Given the description of an element on the screen output the (x, y) to click on. 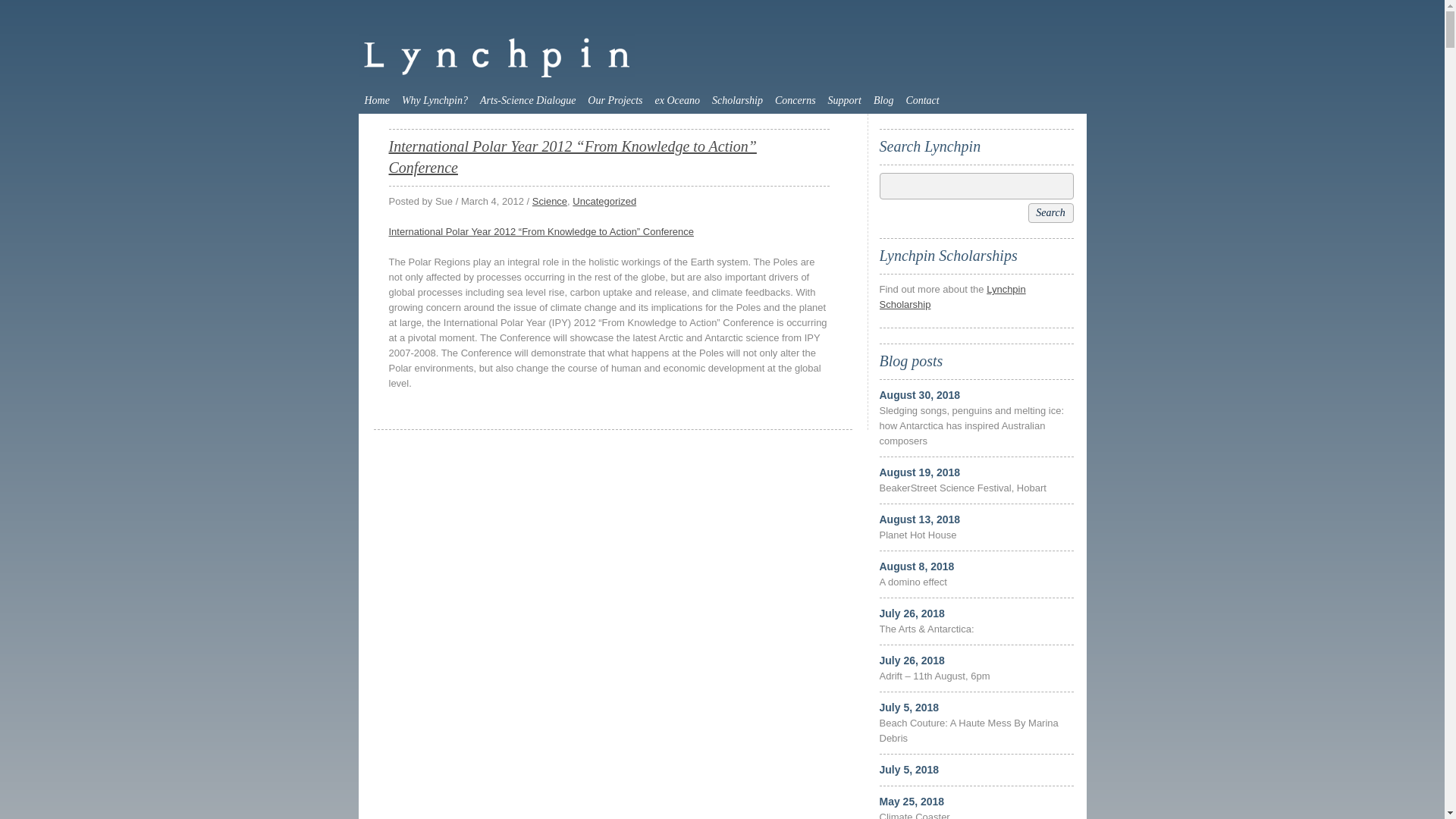
Lynchpin Scholarship Element type: text (952, 296)
Scholarship Element type: text (737, 100)
July 5, 2018 Element type: text (909, 769)
Search Element type: text (1050, 212)
Concerns Element type: text (795, 100)
July 26, 2018 Element type: text (911, 660)
Home Element type: text (376, 100)
August 8, 2018 Element type: text (916, 566)
May 25, 2018 Element type: text (911, 801)
August 19, 2018 Element type: text (919, 472)
Blog Element type: text (883, 100)
Why Lynchpin? Element type: text (434, 100)
Support Element type: text (844, 100)
Contact Element type: text (921, 100)
August 13, 2018 Element type: text (919, 519)
Uncategorized Element type: text (604, 201)
Arts-Science Dialogue Element type: text (527, 100)
Our Projects Element type: text (614, 100)
Science Element type: text (549, 201)
July 5, 2018 Element type: text (909, 707)
August 30, 2018 Element type: text (919, 395)
ex Oceano Element type: text (677, 100)
July 26, 2018 Element type: text (911, 613)
